Given the description of an element on the screen output the (x, y) to click on. 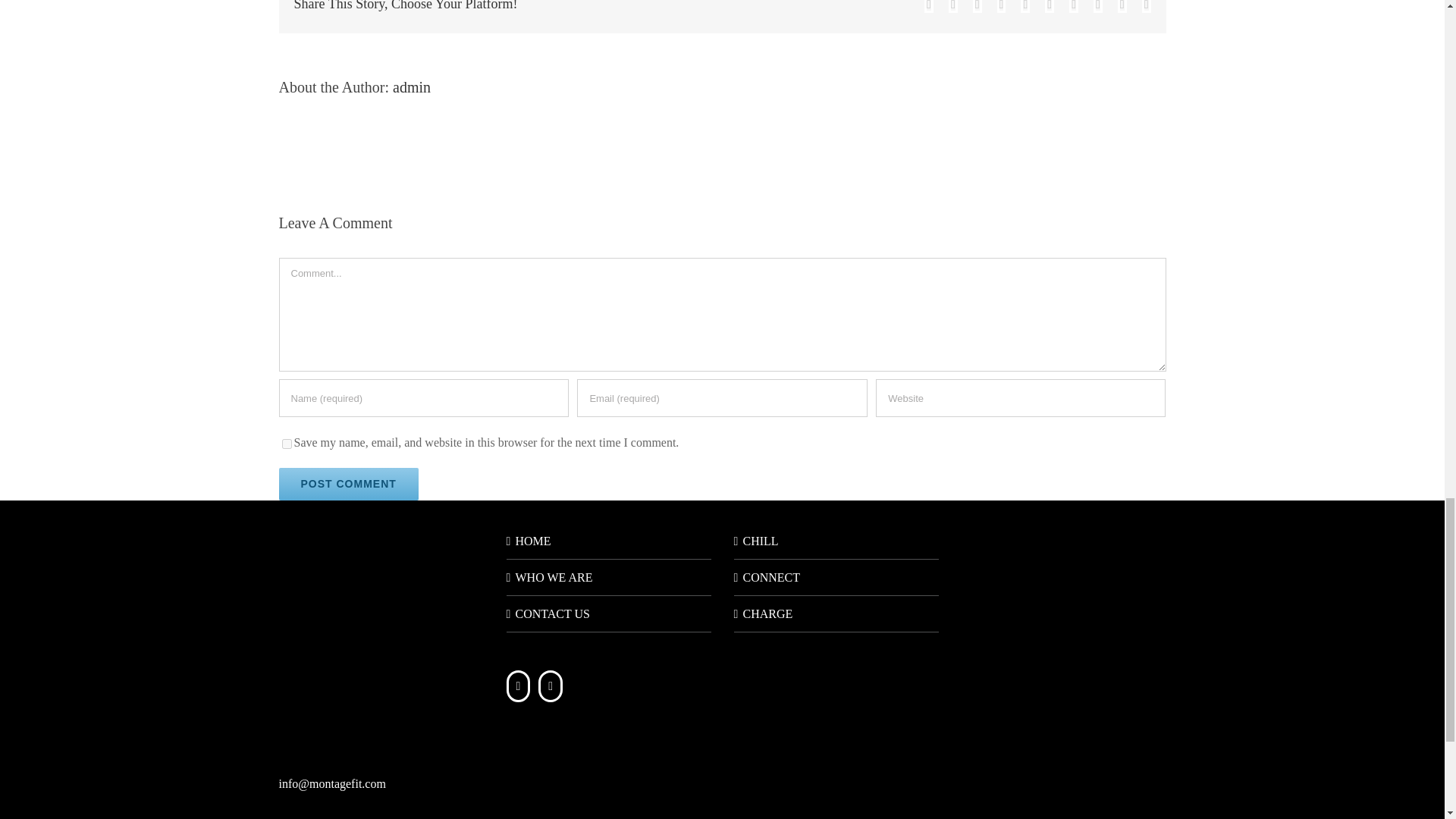
yes (287, 443)
Posts by admin (411, 86)
Post Comment (349, 483)
